Given the description of an element on the screen output the (x, y) to click on. 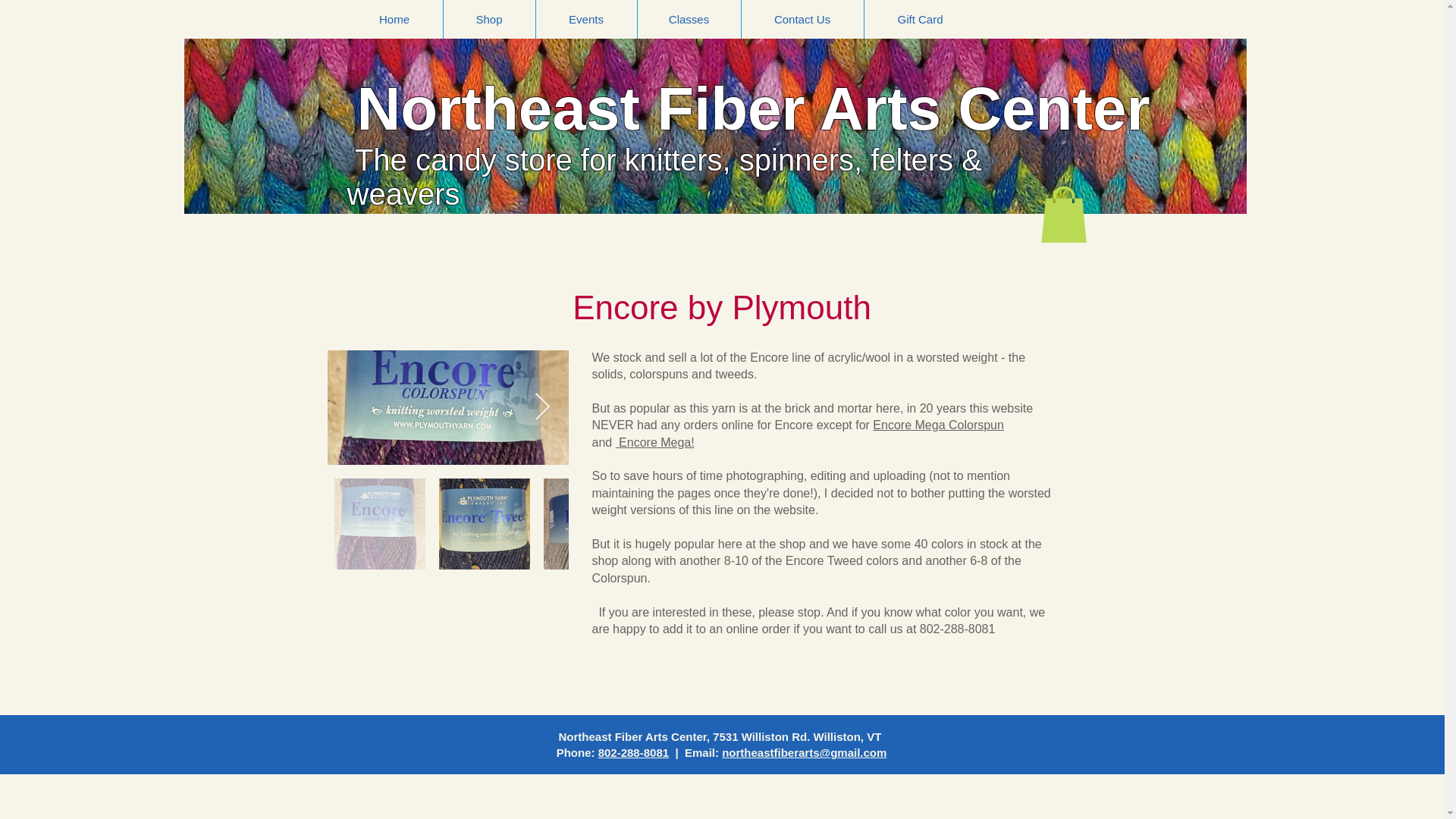
Encore Mega Colorspun (938, 424)
Gift Card (920, 19)
 Encore Mega! (654, 441)
802-288-8081 (633, 752)
Home (394, 19)
